Given the description of an element on the screen output the (x, y) to click on. 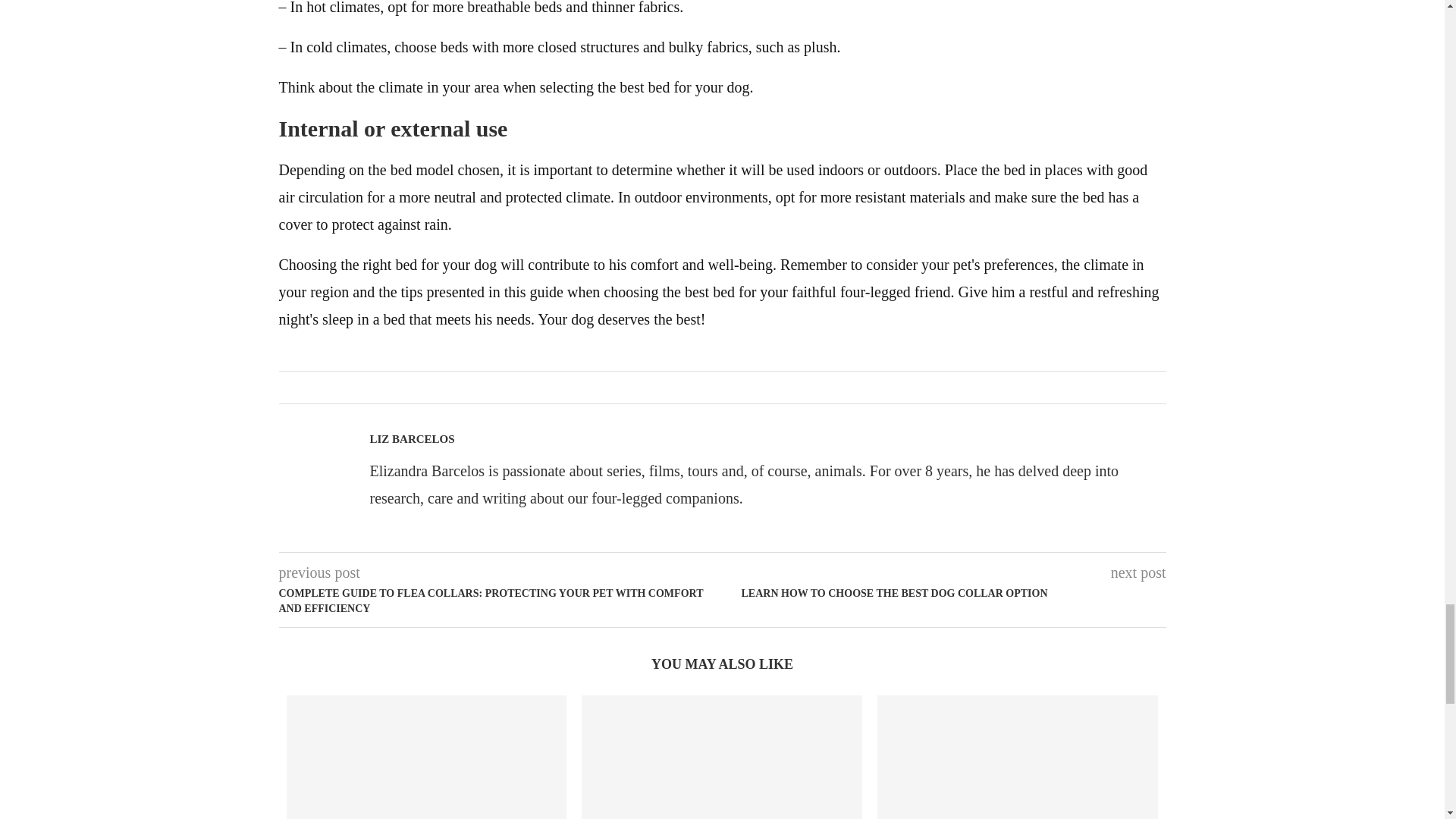
Author Liz Barcelos (411, 439)
Dog clothes: style and comfort for your pet (426, 757)
